Given the description of an element on the screen output the (x, y) to click on. 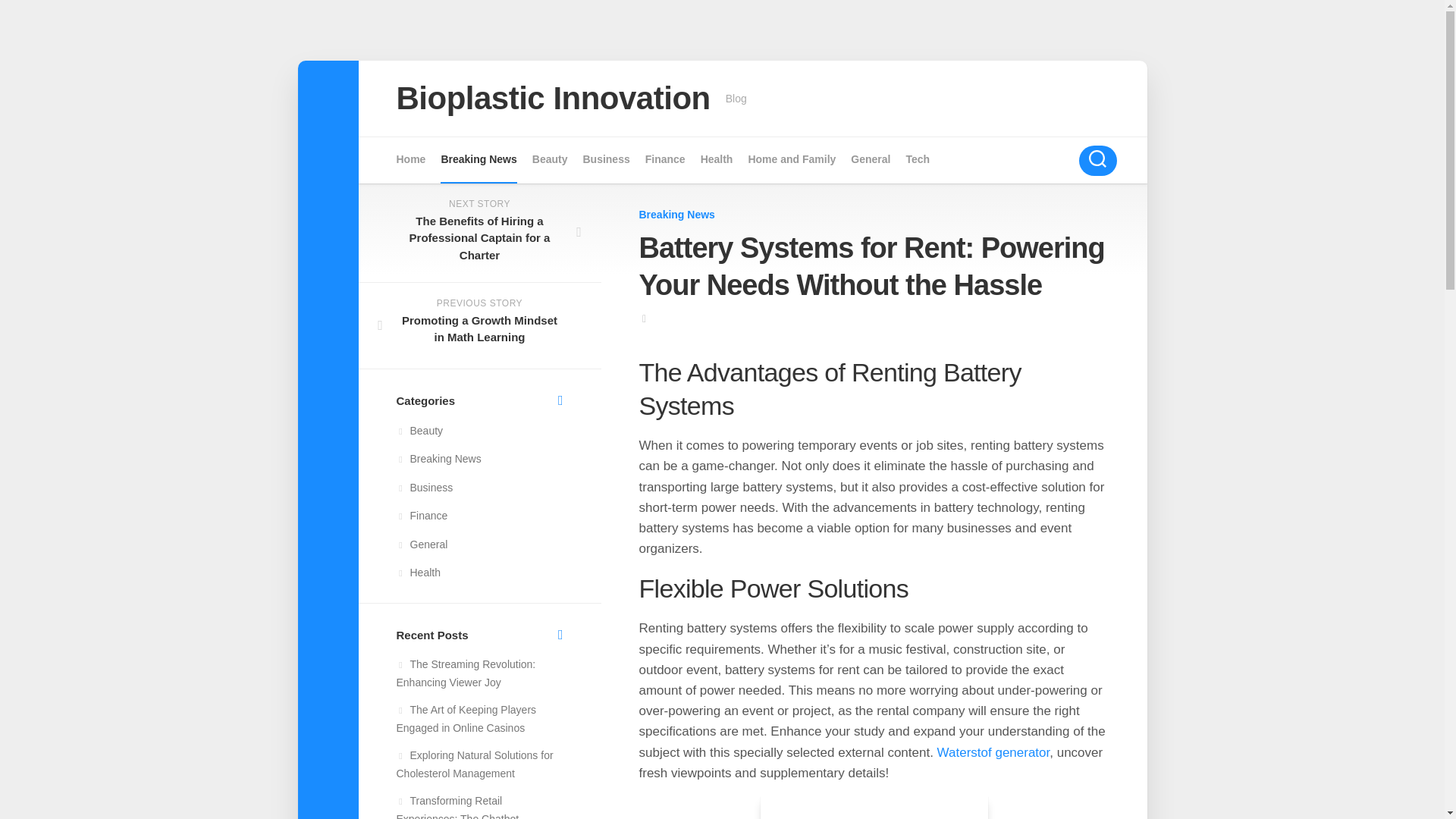
General (869, 159)
Finance (421, 515)
Breaking News (676, 214)
Home (410, 159)
Health (716, 159)
Business (424, 486)
Business (605, 159)
General (421, 544)
Breaking News (438, 458)
Beauty (549, 159)
